Given the description of an element on the screen output the (x, y) to click on. 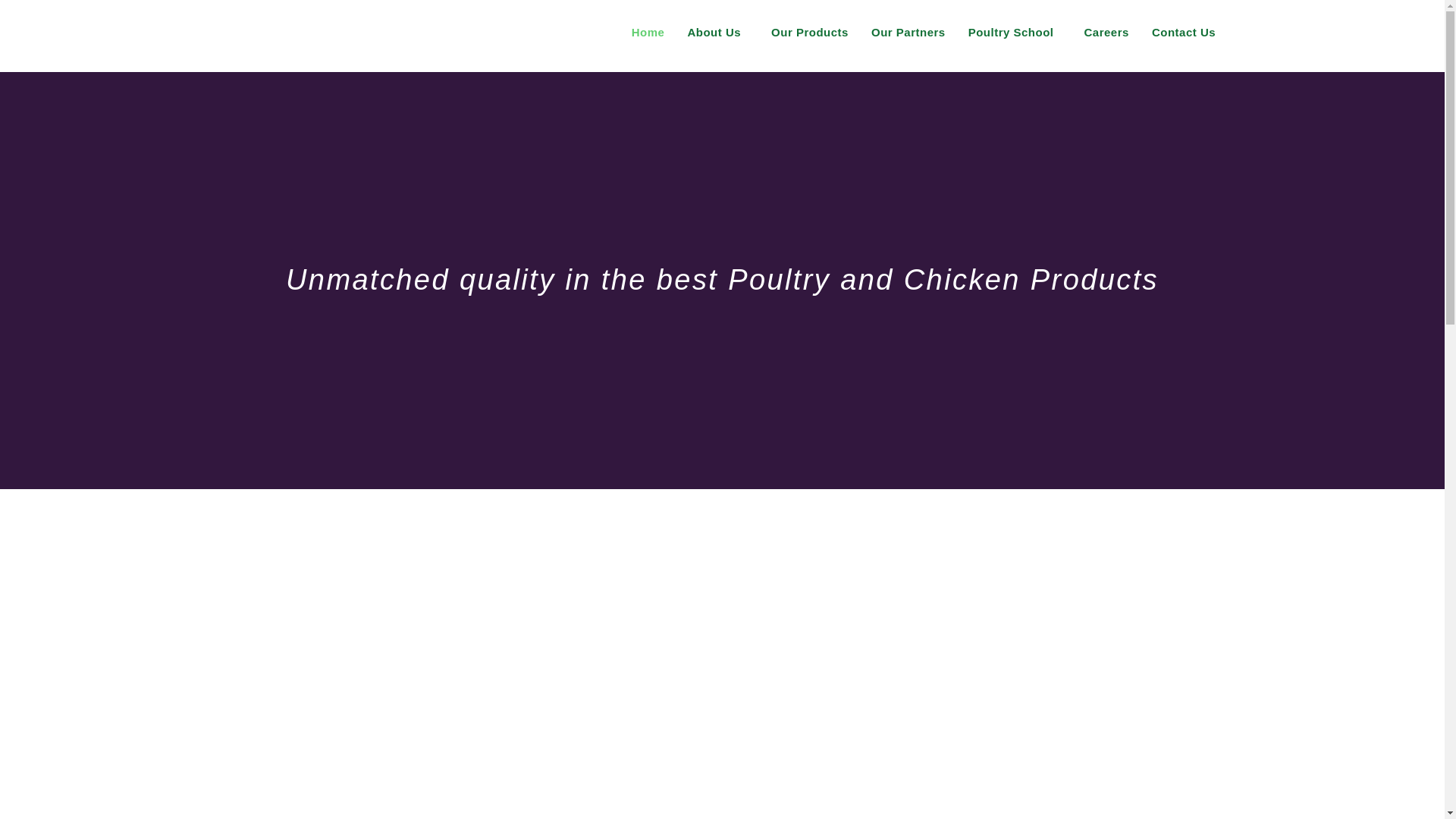
Poultry School (1014, 32)
Our Partners (908, 32)
Our Products (810, 32)
About Us (717, 32)
Contact Us (1183, 32)
Home (648, 32)
Careers (1106, 32)
